Given the description of an element on the screen output the (x, y) to click on. 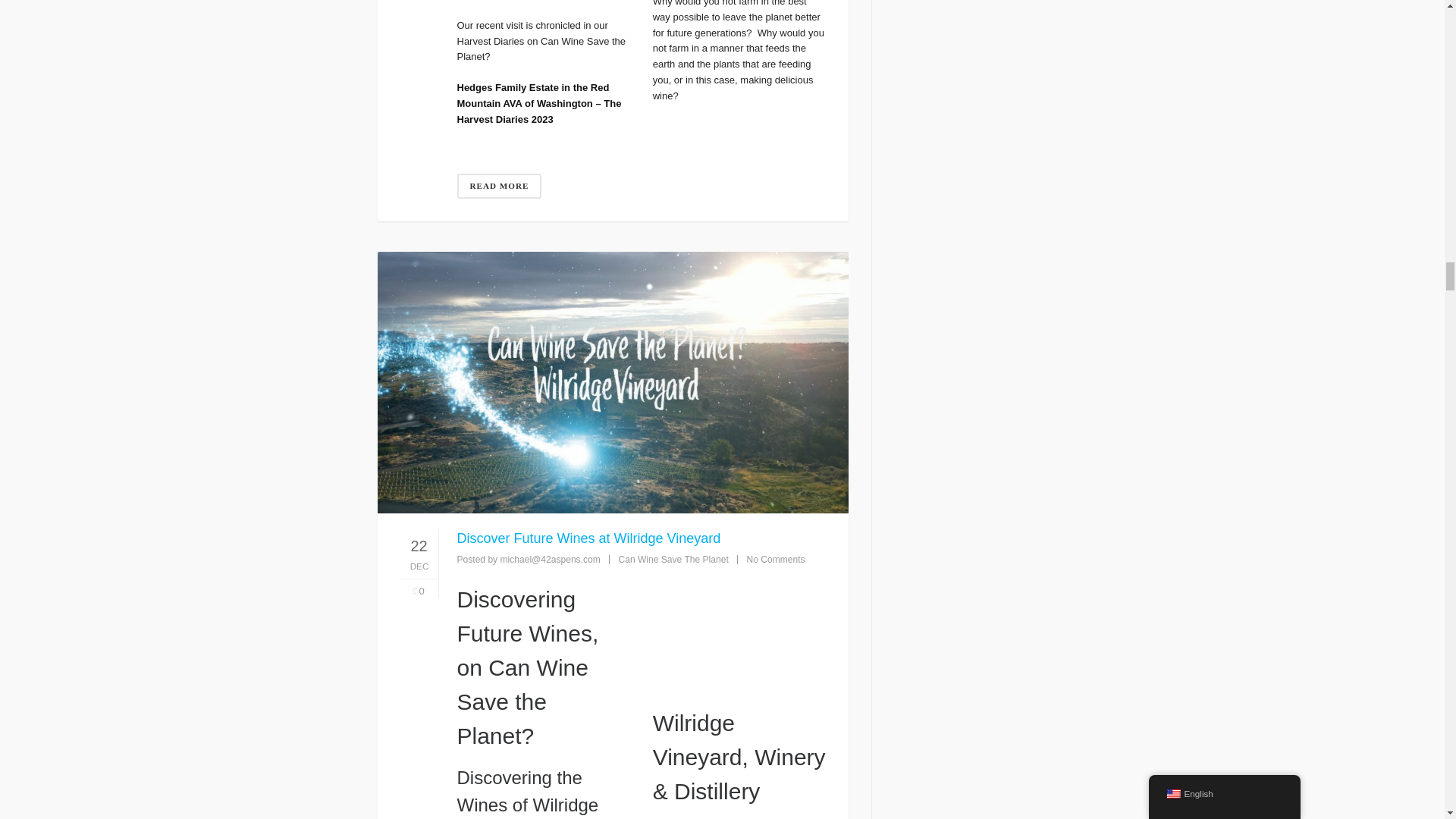
No Comments (775, 559)
Like this post. Discover Future Wines at Wilridge Vineyard (419, 591)
